Given the description of an element on the screen output the (x, y) to click on. 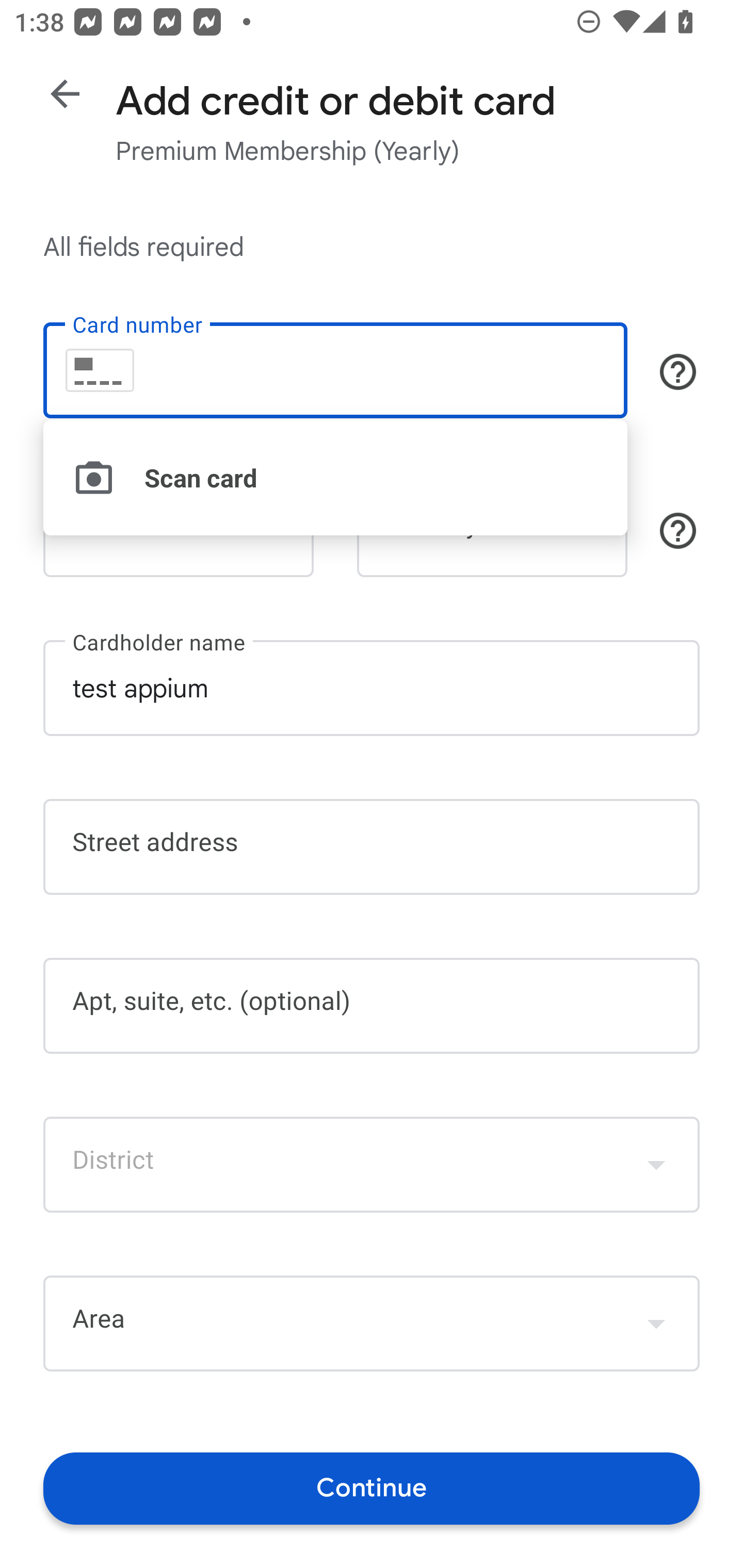
Back (64, 93)
Card number (335, 370)
Button, shows cards that are accepted for payment (677, 371)
Security code help (677, 530)
test appium (371, 687)
Street address (371, 847)
Apt, suite, etc. (optional) (371, 1005)
District (371, 1164)
Show dropdown menu (655, 1164)
Area (371, 1323)
Show dropdown menu (655, 1323)
Continue (371, 1487)
